Given the description of an element on the screen output the (x, y) to click on. 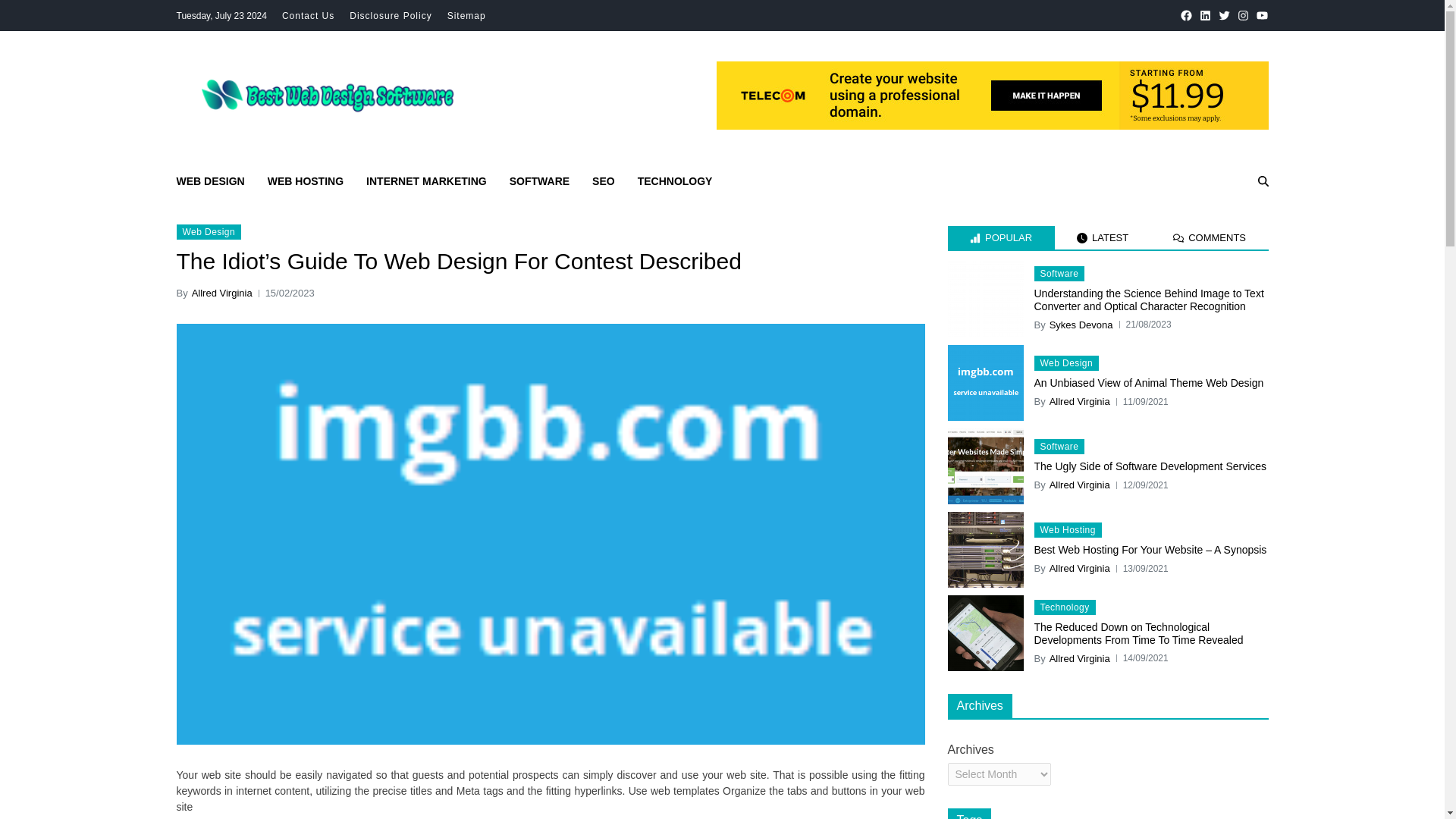
Web Design (208, 231)
WEB DESIGN (210, 181)
Best Web Hosting For Your Website - A Synopsis (985, 549)
Software (1058, 273)
Web Design (1066, 363)
SEO (603, 181)
Sitemap (466, 15)
INTERNET MARKETING (426, 181)
The Ugly Side of Software Development Services (985, 466)
Allred Virginia (1079, 401)
SOFTWARE (539, 181)
COMMENTS (1209, 238)
